Given the description of an element on the screen output the (x, y) to click on. 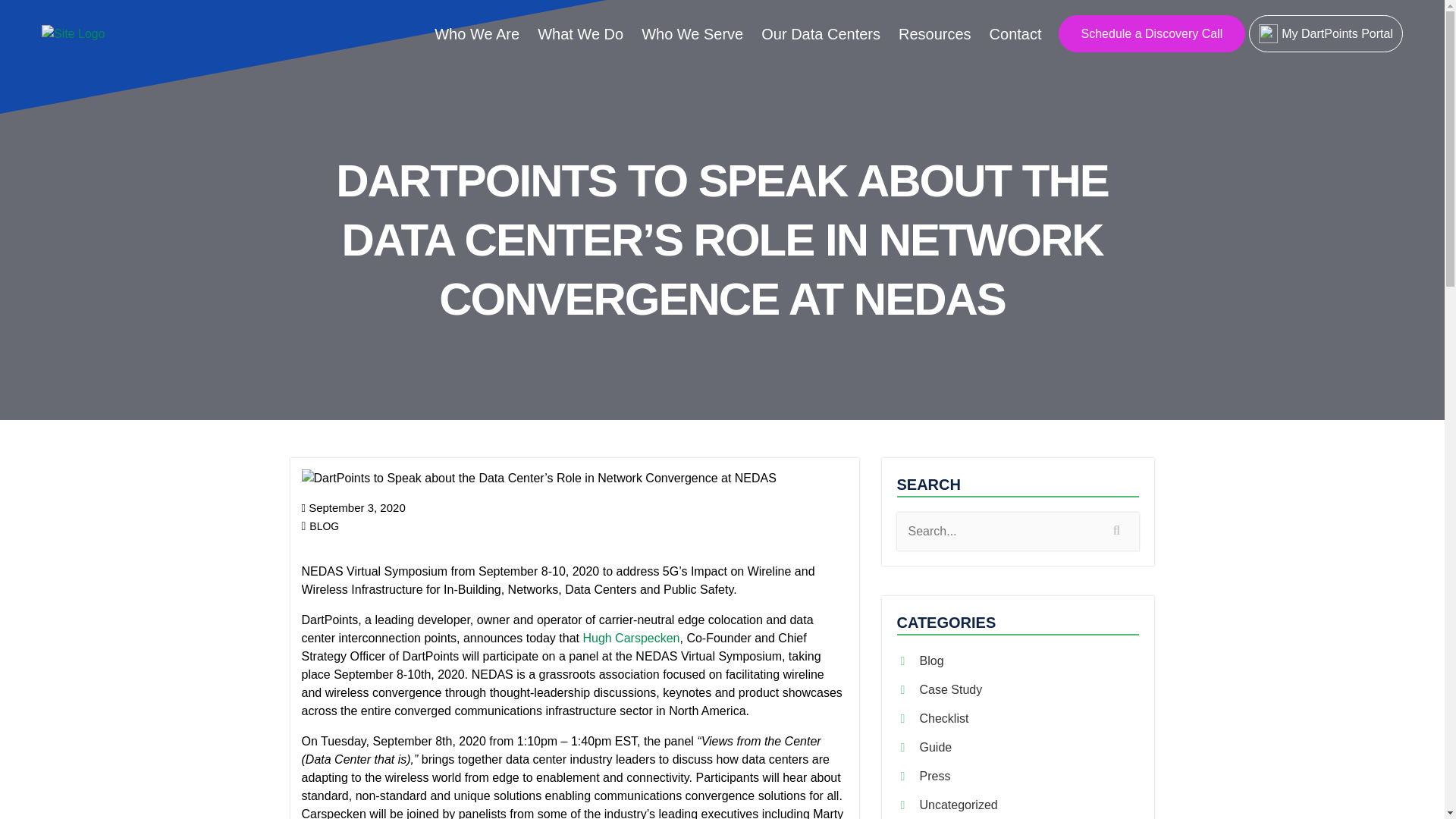
What We Do (579, 33)
What We Do (579, 33)
Who We Are (476, 33)
Who We Serve (691, 33)
Who We Are (476, 33)
